Given the description of an element on the screen output the (x, y) to click on. 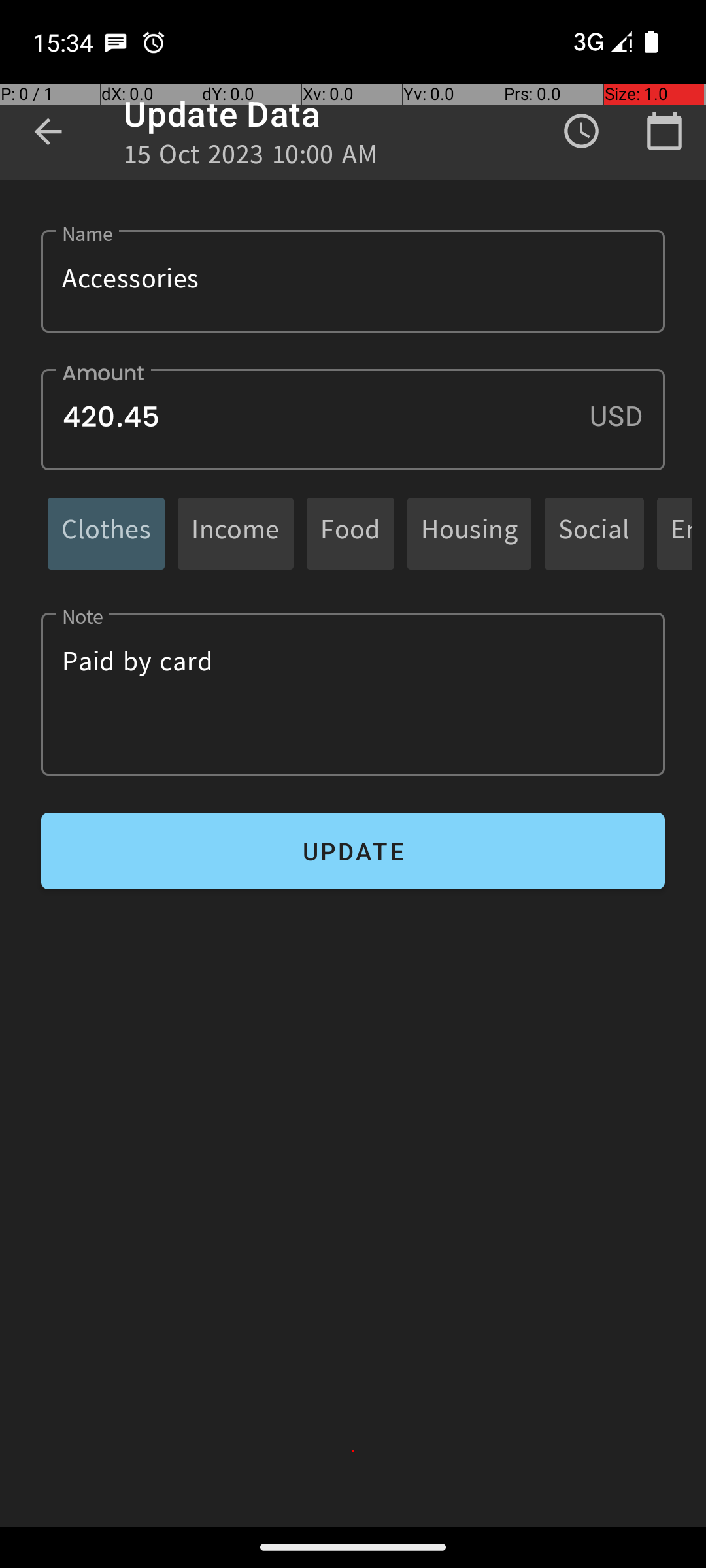
15 Oct 2023 10:00 AM Element type: android.widget.TextView (250, 157)
420.45 Element type: android.widget.EditText (352, 419)
Clothes Element type: android.widget.TextView (106, 533)
